Given the description of an element on the screen output the (x, y) to click on. 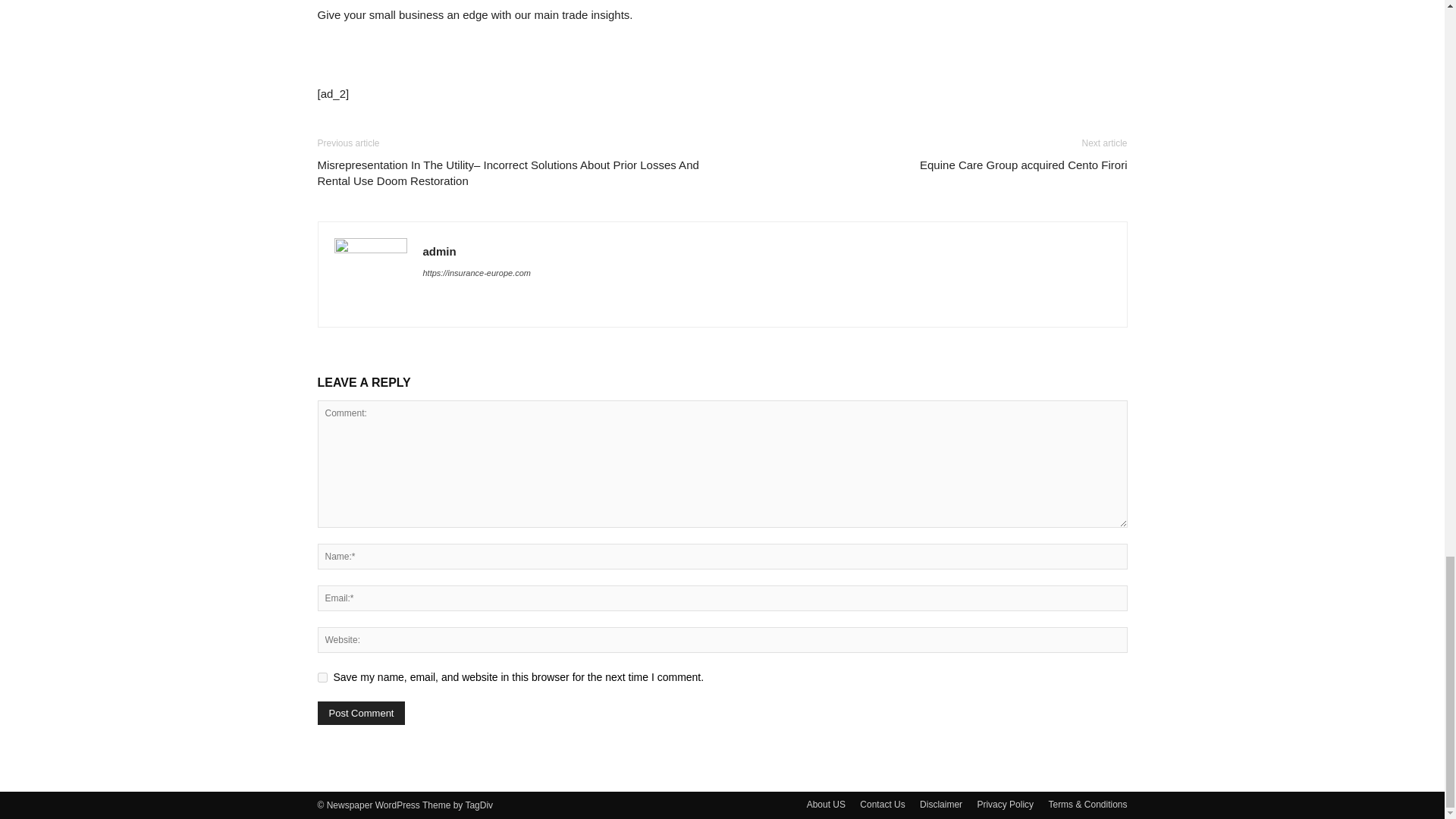
Post Comment (360, 712)
yes (321, 677)
admin (440, 250)
Equine Care Group acquired Cento Firori (1023, 164)
